Given the description of an element on the screen output the (x, y) to click on. 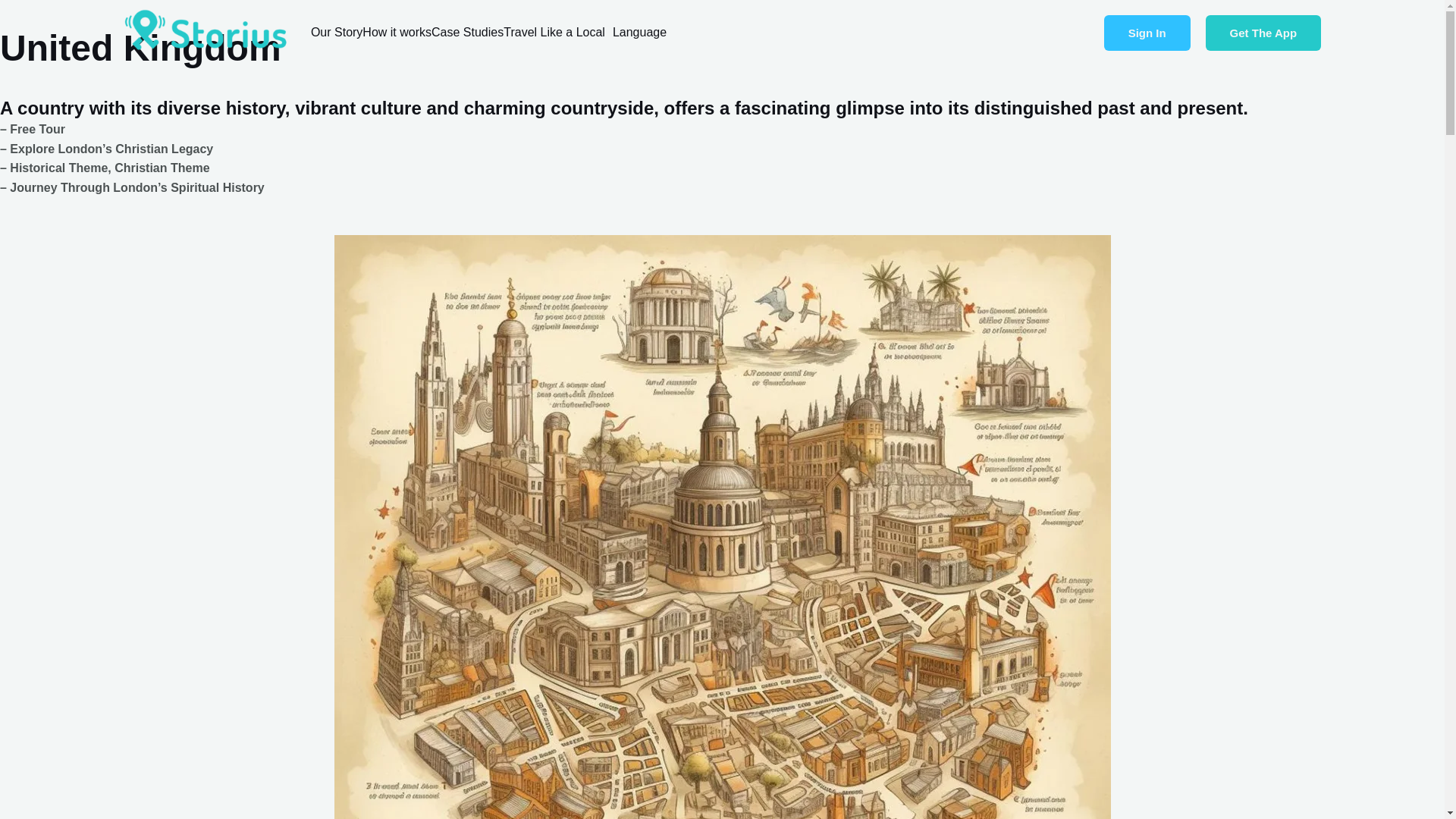
Travel Like a Local (557, 32)
How it works (396, 32)
Language (643, 32)
Case Studies (466, 32)
Sign In (1147, 32)
Our Story (336, 32)
Get The App (1263, 32)
